Given the description of an element on the screen output the (x, y) to click on. 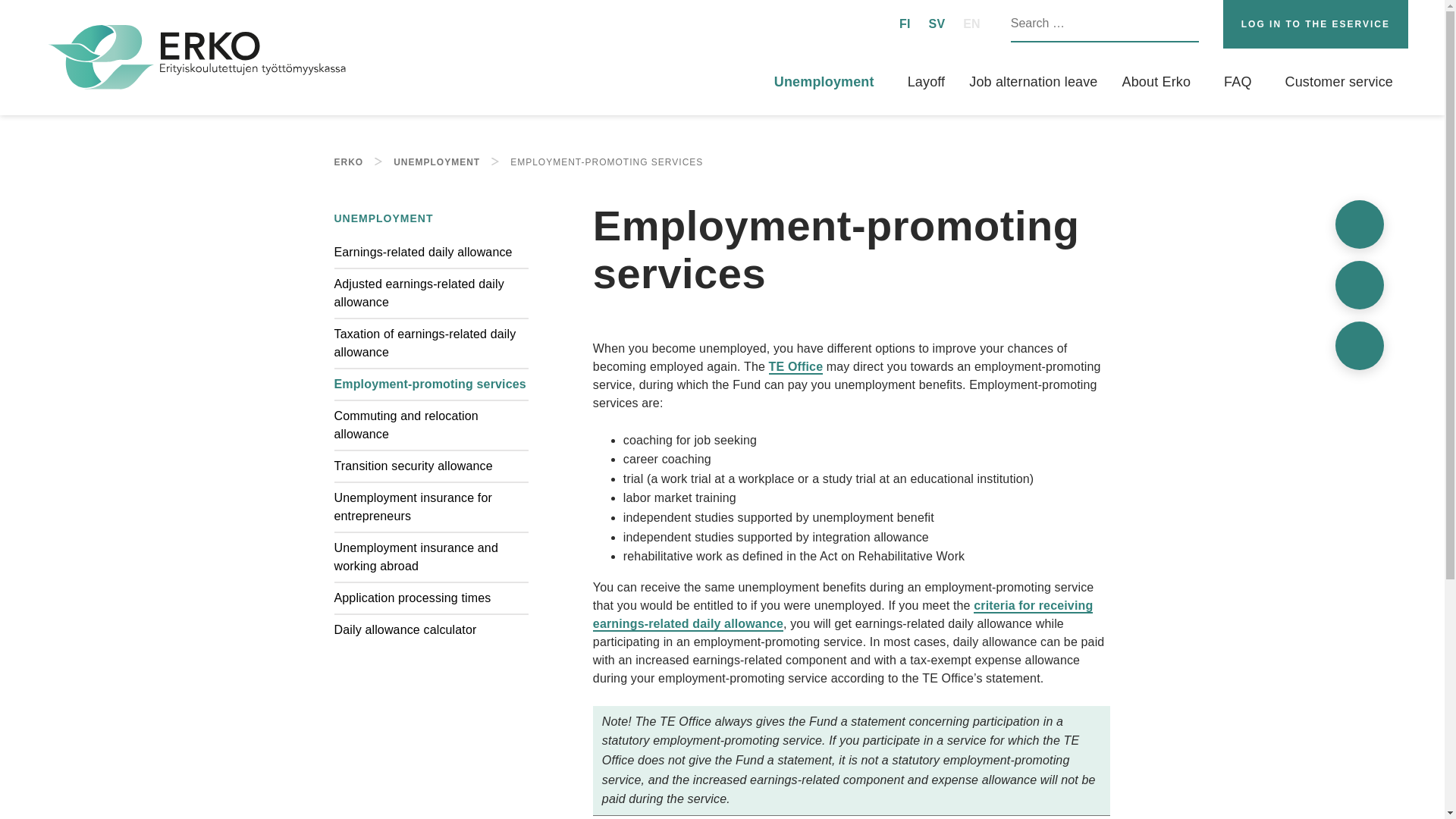
SV (937, 24)
LOG IN TO THE ESERVICE (1315, 24)
Erko (197, 57)
EN (971, 24)
Go to Unemployment. (436, 162)
Go to Erko. (347, 162)
Unemployment (824, 81)
